Given the description of an element on the screen output the (x, y) to click on. 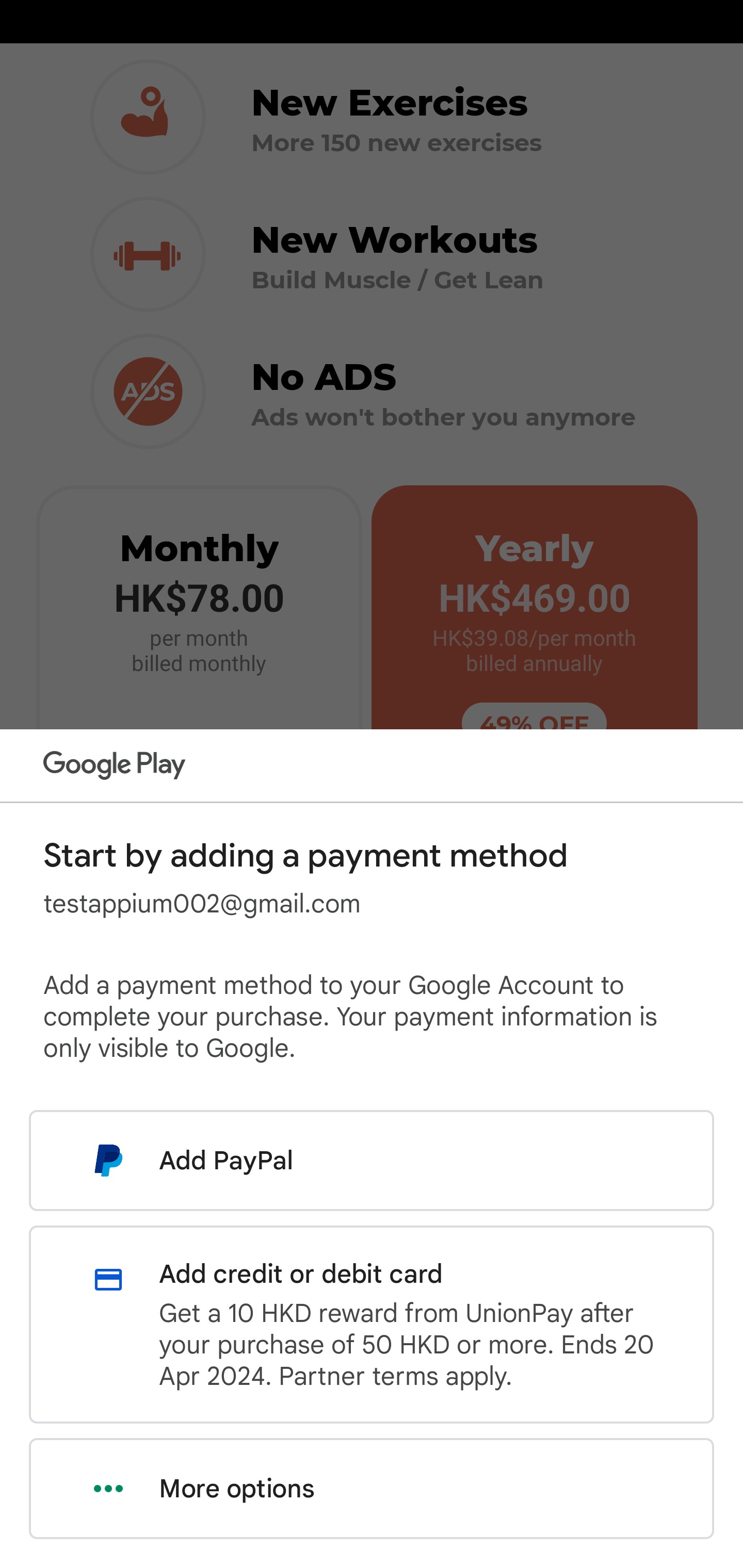
Add PayPal (371, 1160)
More options (371, 1488)
